Given the description of an element on the screen output the (x, y) to click on. 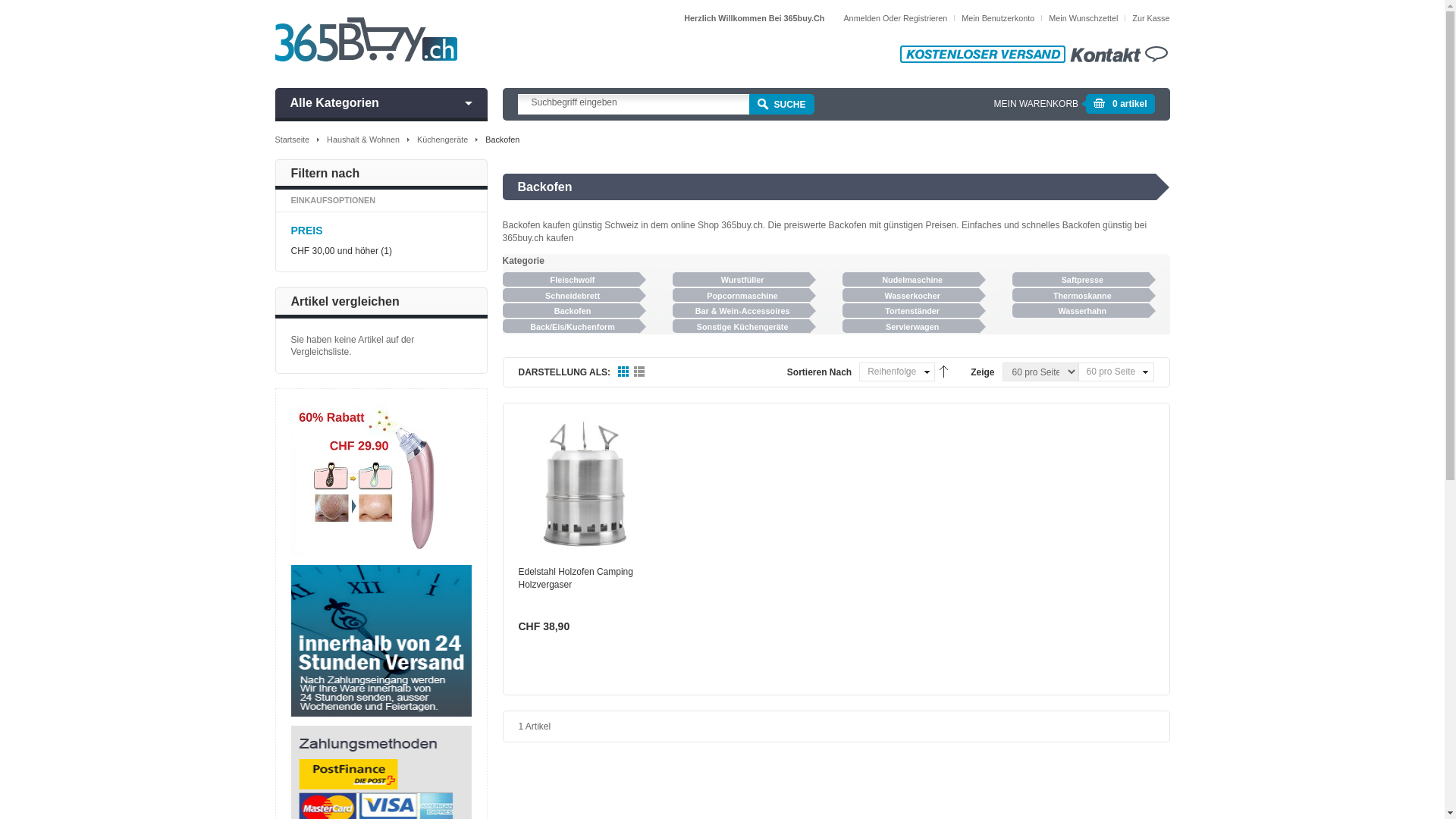
Popcornmaschine Element type: text (740, 295)
Wasserkocher Element type: text (910, 295)
Schneidebrett Element type: text (570, 295)
Anmelden Oder Registrieren Element type: text (895, 18)
Porenreiniger Element type: hover (366, 409)
SUCHE Element type: text (781, 104)
Saftpresse Element type: text (1080, 279)
Mein Wunschzettel Element type: text (1082, 18)
Startseite Element type: text (291, 139)
Zur Kasse Element type: text (1150, 18)
Thermoskanne Element type: text (1080, 295)
Liste Element type: text (639, 372)
icon
0 artikel Element type: text (1119, 107)
Backofen Element type: text (570, 310)
Edelstahl Holzofen Camping Holzvergaser Element type: text (575, 577)
Porenreiniger Element type: hover (366, 479)
Haushalt & Wohnen Element type: text (362, 139)
Nudelmaschine Element type: text (910, 279)
Back/Eis/Kuchenform Element type: text (570, 326)
Bar & Wein-Accessoires Element type: text (740, 310)
Servierwagen Element type: text (910, 326)
Fleischwolf Element type: text (570, 279)
Wasserhahn Element type: text (1080, 310)
Edelstahl Holzofen Camping Holzvergaser Element type: hover (585, 483)
Mein Benutzerkonto Element type: text (997, 18)
In absteigender Reihenfolge Element type: hover (941, 369)
Schweizer online Shop Element type: hover (365, 39)
